Given the description of an element on the screen output the (x, y) to click on. 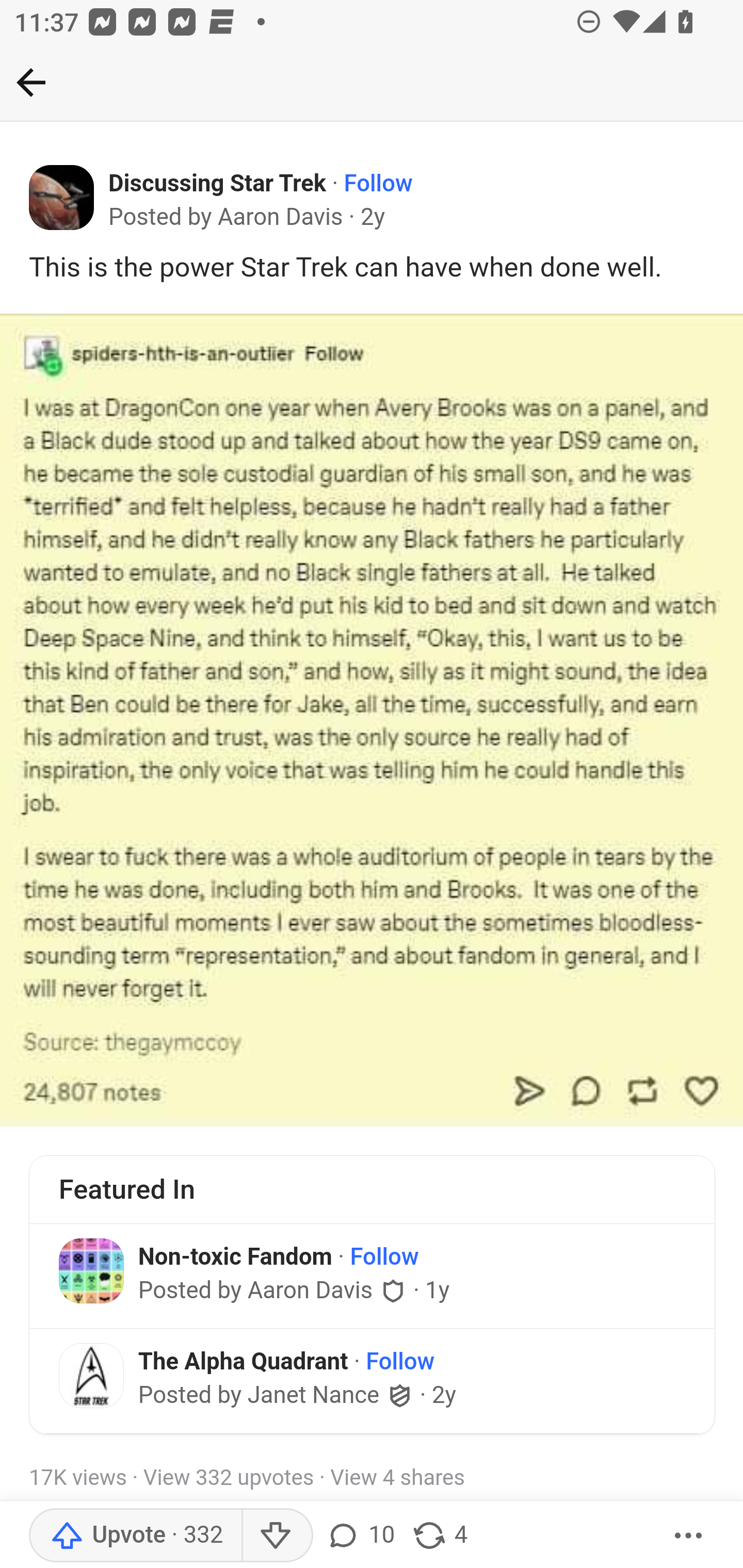
Back (30, 82)
Icon for Discussing Star Trek (61, 198)
Discussing Star Trek (217, 183)
Follow (378, 183)
Icon for Non-toxic Fandom (90, 1270)
Non-toxic Fandom (235, 1255)
Follow (384, 1256)
Icon for The Alpha Quadrant (90, 1375)
The Alpha Quadrant (242, 1360)
Follow (399, 1361)
Upvote (135, 1535)
Downvote (277, 1535)
10 comments (363, 1535)
4 shares (439, 1535)
More (688, 1535)
